Given the description of an element on the screen output the (x, y) to click on. 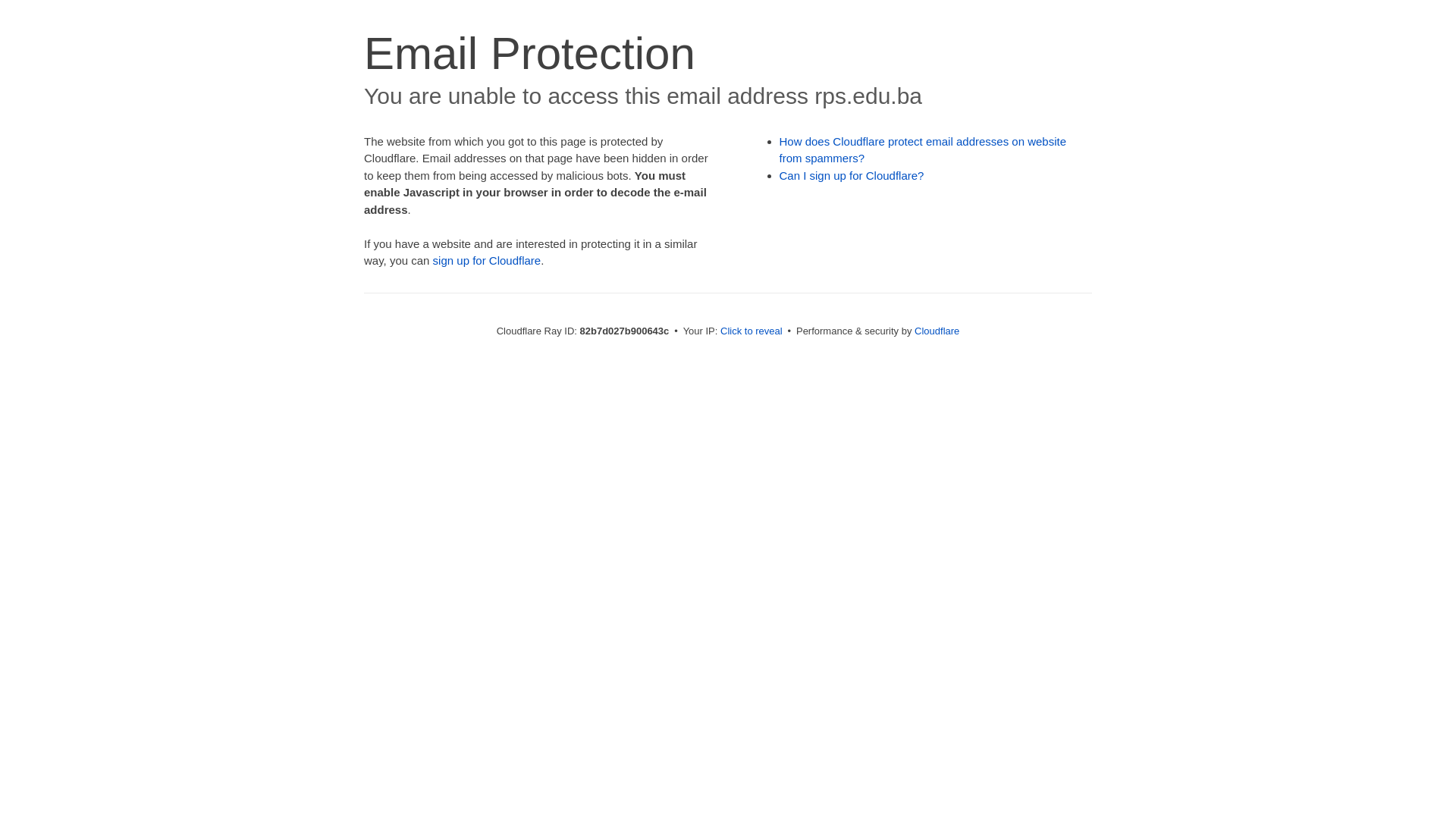
Click to reveal Element type: text (751, 330)
Can I sign up for Cloudflare? Element type: text (851, 175)
sign up for Cloudflare Element type: text (487, 260)
Cloudflare Element type: text (936, 330)
